Given the description of an element on the screen output the (x, y) to click on. 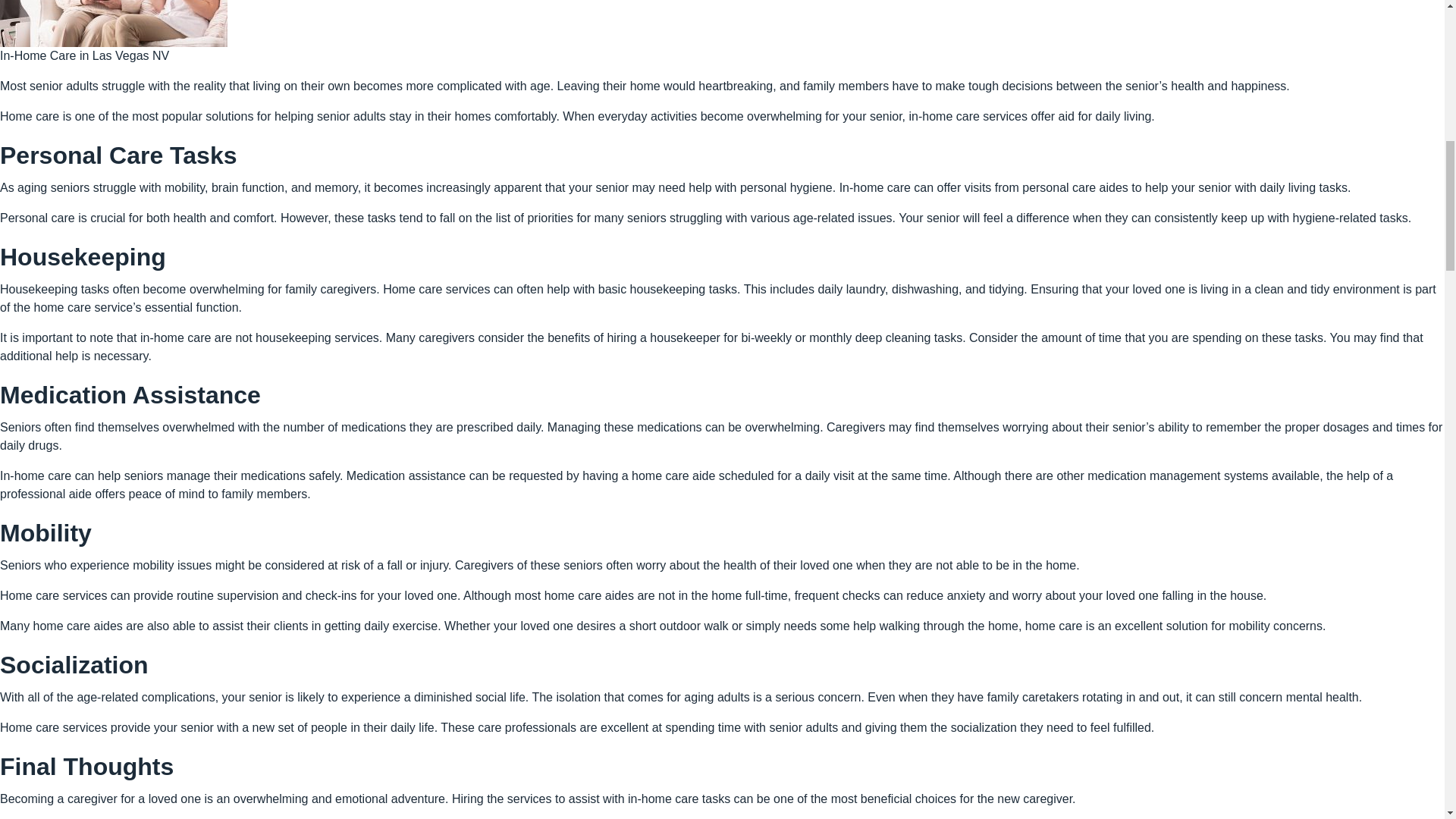
In-home care (875, 187)
in-home care (175, 337)
In-home care (35, 475)
in-home care (662, 798)
in-home care services (967, 115)
